Given the description of an element on the screen output the (x, y) to click on. 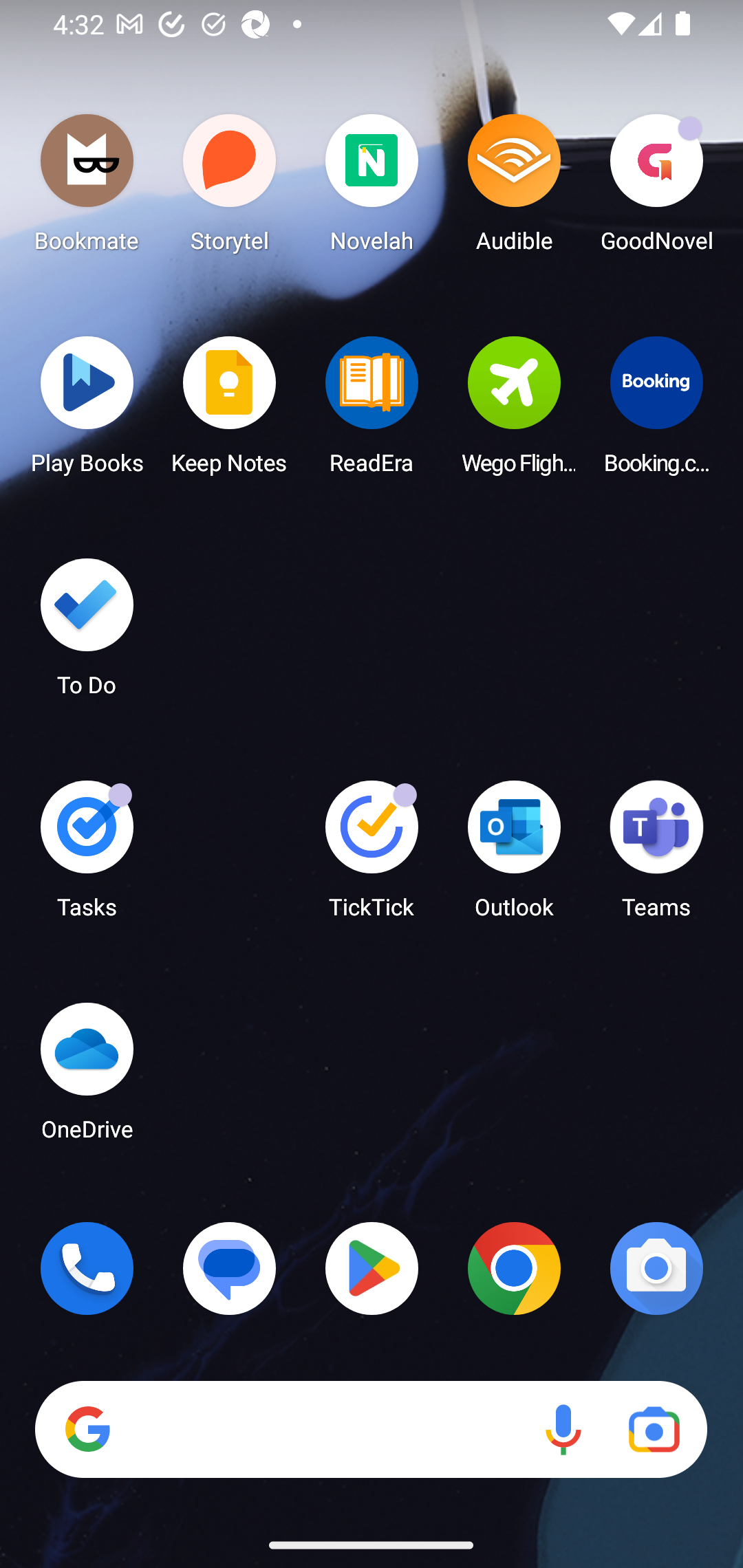
Bookmate (86, 188)
Storytel (229, 188)
Novelah (371, 188)
Audible (513, 188)
GoodNovel GoodNovel has 1 notification (656, 188)
Play Books (86, 410)
Keep Notes (229, 410)
ReadEra (371, 410)
Wego Flights & Hotels (513, 410)
Booking.com (656, 410)
To Do (86, 633)
Tasks Tasks has 1 notification (86, 854)
TickTick TickTick has 3 notifications (371, 854)
Outlook (513, 854)
Teams (656, 854)
OneDrive (86, 1076)
Phone (86, 1268)
Messages (229, 1268)
Play Store (371, 1268)
Chrome (513, 1268)
Camera (656, 1268)
Search Voice search Google Lens (370, 1429)
Voice search (562, 1429)
Google Lens (653, 1429)
